Given the description of an element on the screen output the (x, y) to click on. 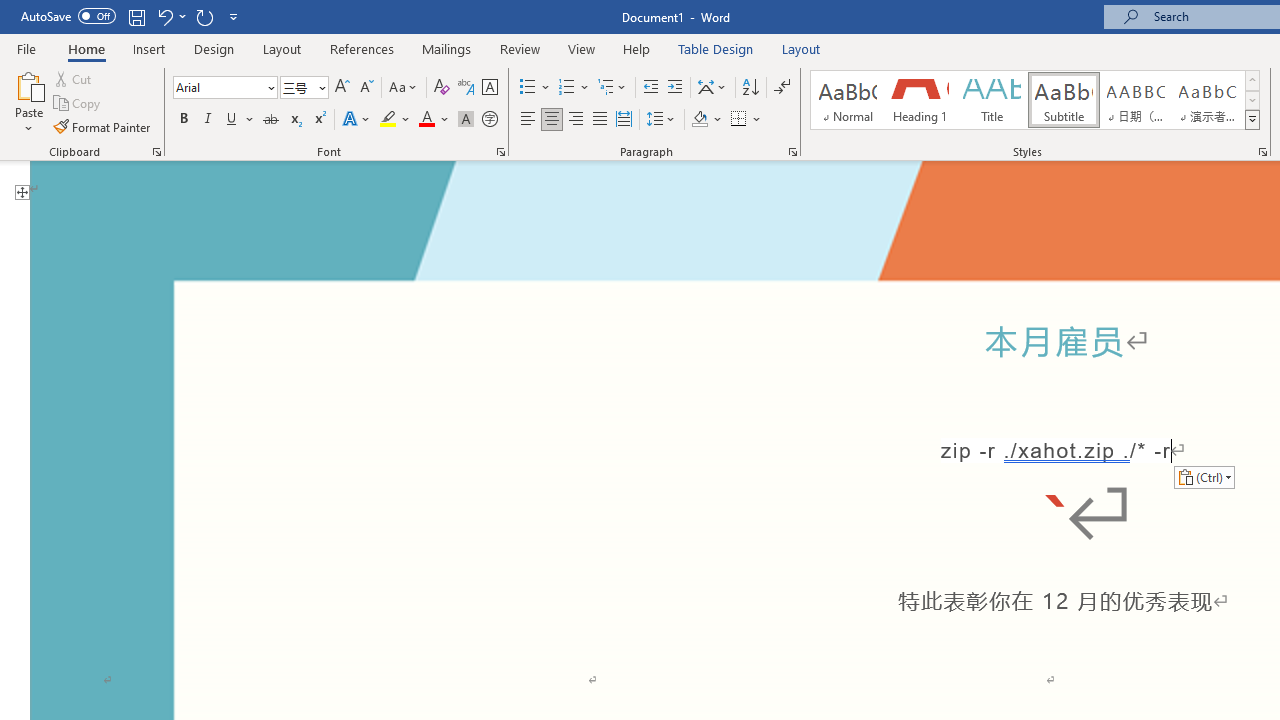
Align Left (527, 119)
Justify (599, 119)
Row up (1252, 79)
Line and Paragraph Spacing (661, 119)
Show/Hide Editing Marks (781, 87)
Increase Indent (675, 87)
Repeat Doc Close (204, 15)
Undo Paste (170, 15)
